Given the description of an element on the screen output the (x, y) to click on. 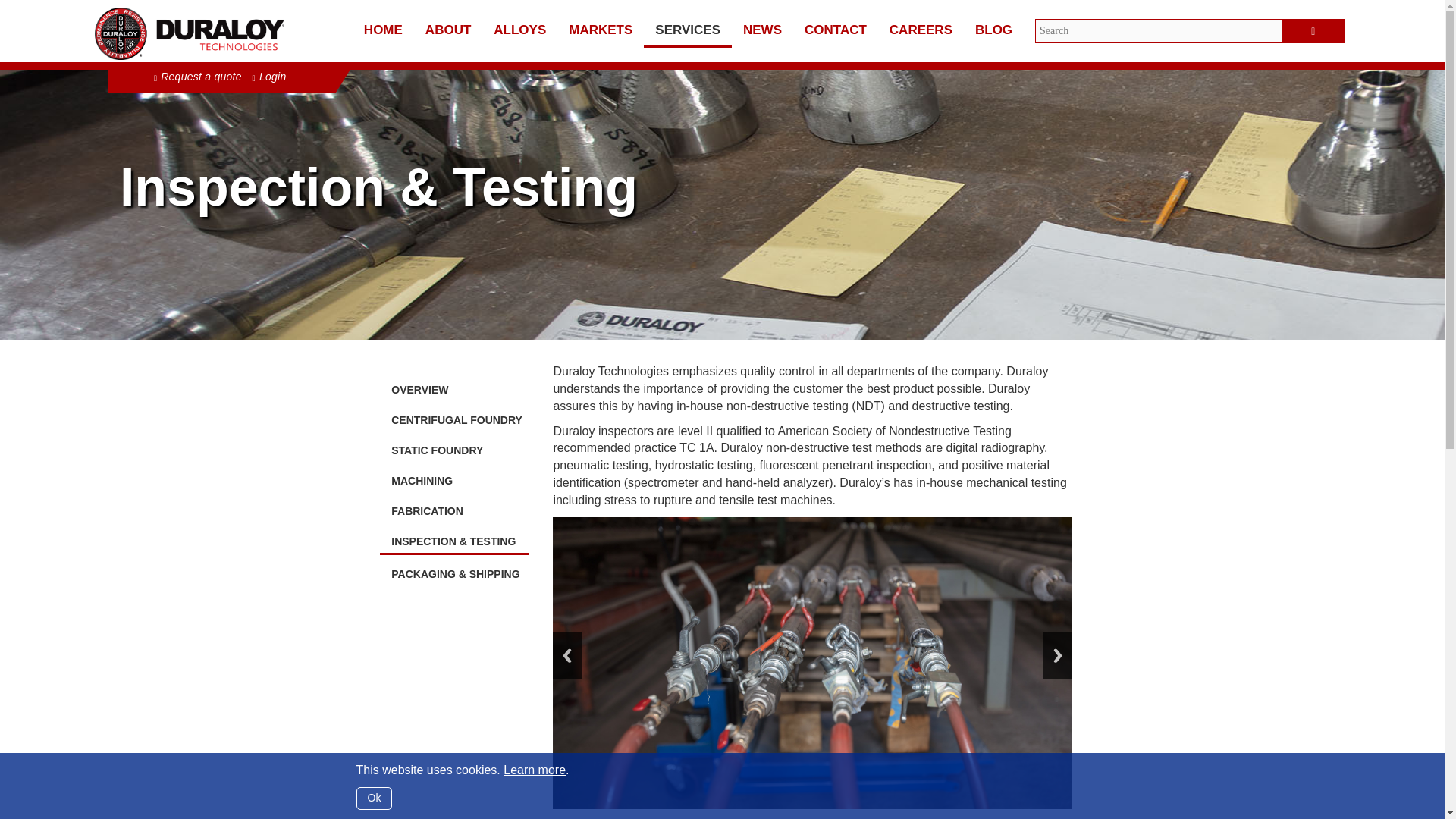
SERVICES (687, 29)
ABOUT (447, 28)
CENTRIFUGAL FOUNDRY (454, 416)
FABRICATION (454, 507)
NEWS (762, 28)
OVERVIEW (454, 386)
BLOG (993, 28)
Request a quote (197, 76)
HOME (382, 28)
STATIC FOUNDRY (454, 446)
CONTACT (835, 28)
Login (268, 76)
CAREERS (920, 28)
MARKETS (600, 28)
ALLOYS (519, 28)
